Given the description of an element on the screen output the (x, y) to click on. 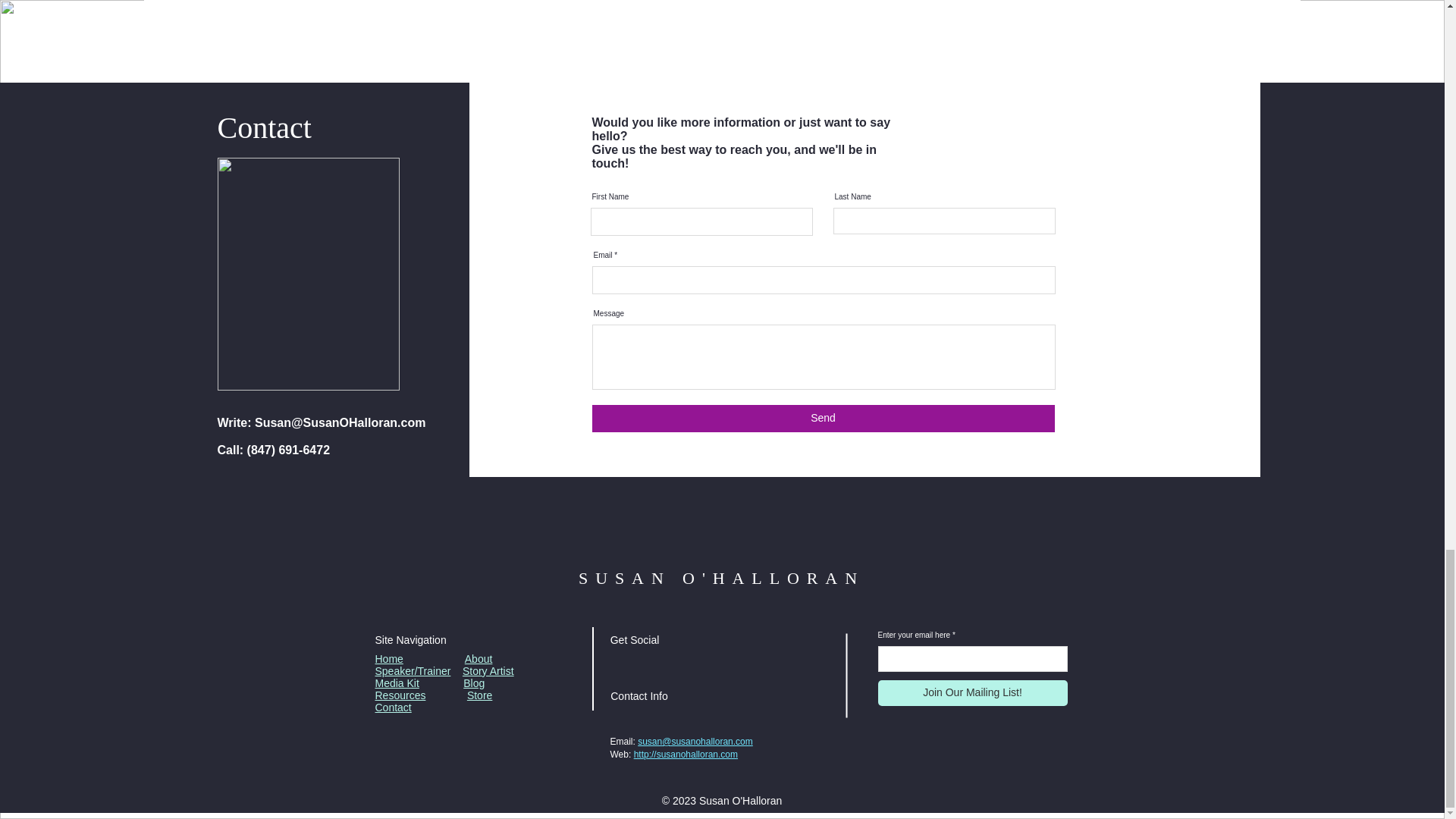
Store (479, 695)
Home (388, 658)
About (478, 658)
Contact (392, 707)
Resources (399, 695)
Media Kit (396, 683)
SUSAN O'HALLORAN (721, 578)
Story Artist (488, 671)
Join Our Mailing List! (972, 692)
Send (822, 418)
